Given the description of an element on the screen output the (x, y) to click on. 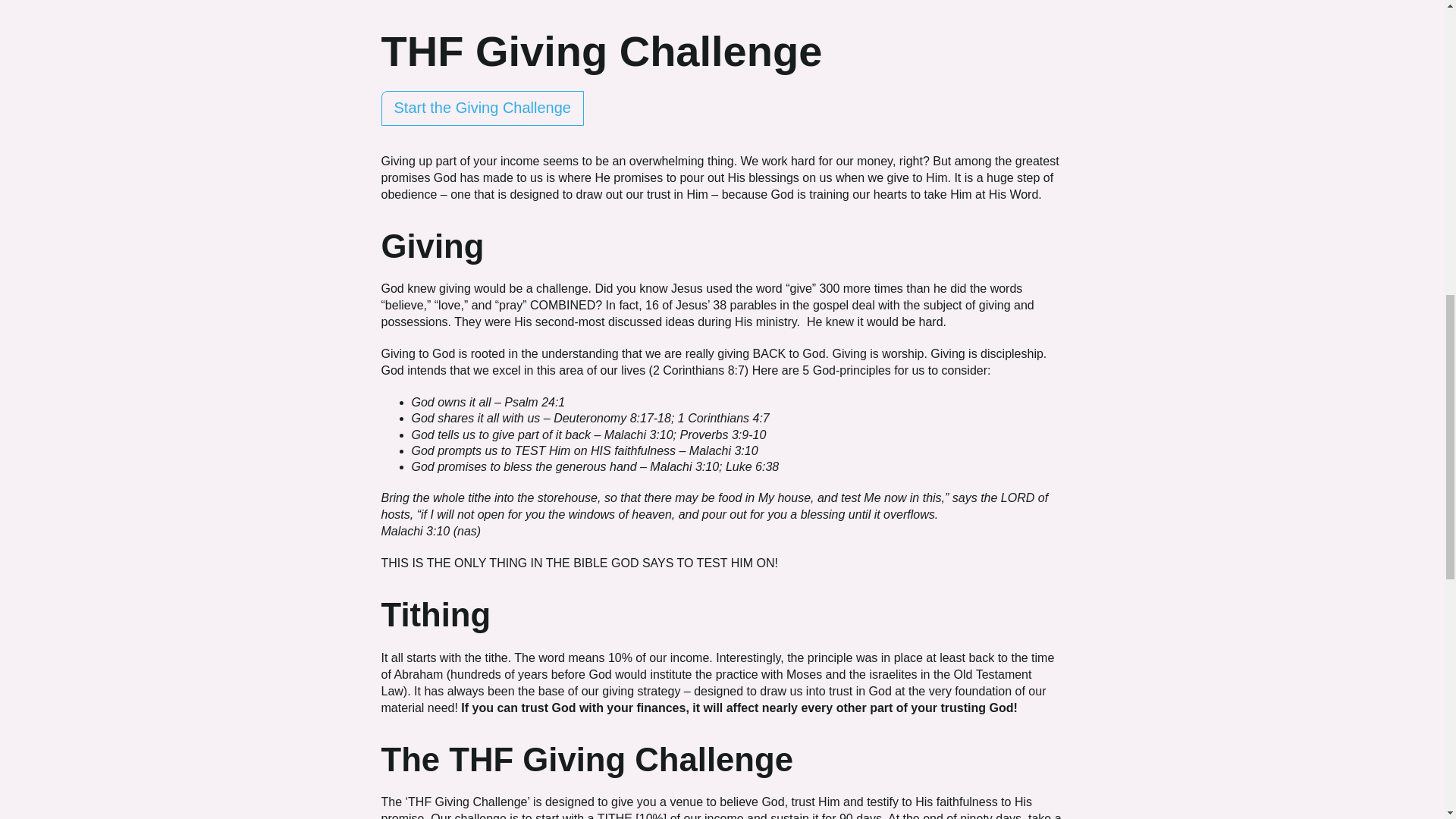
Start the Giving Challenge (481, 108)
